Given the description of an element on the screen output the (x, y) to click on. 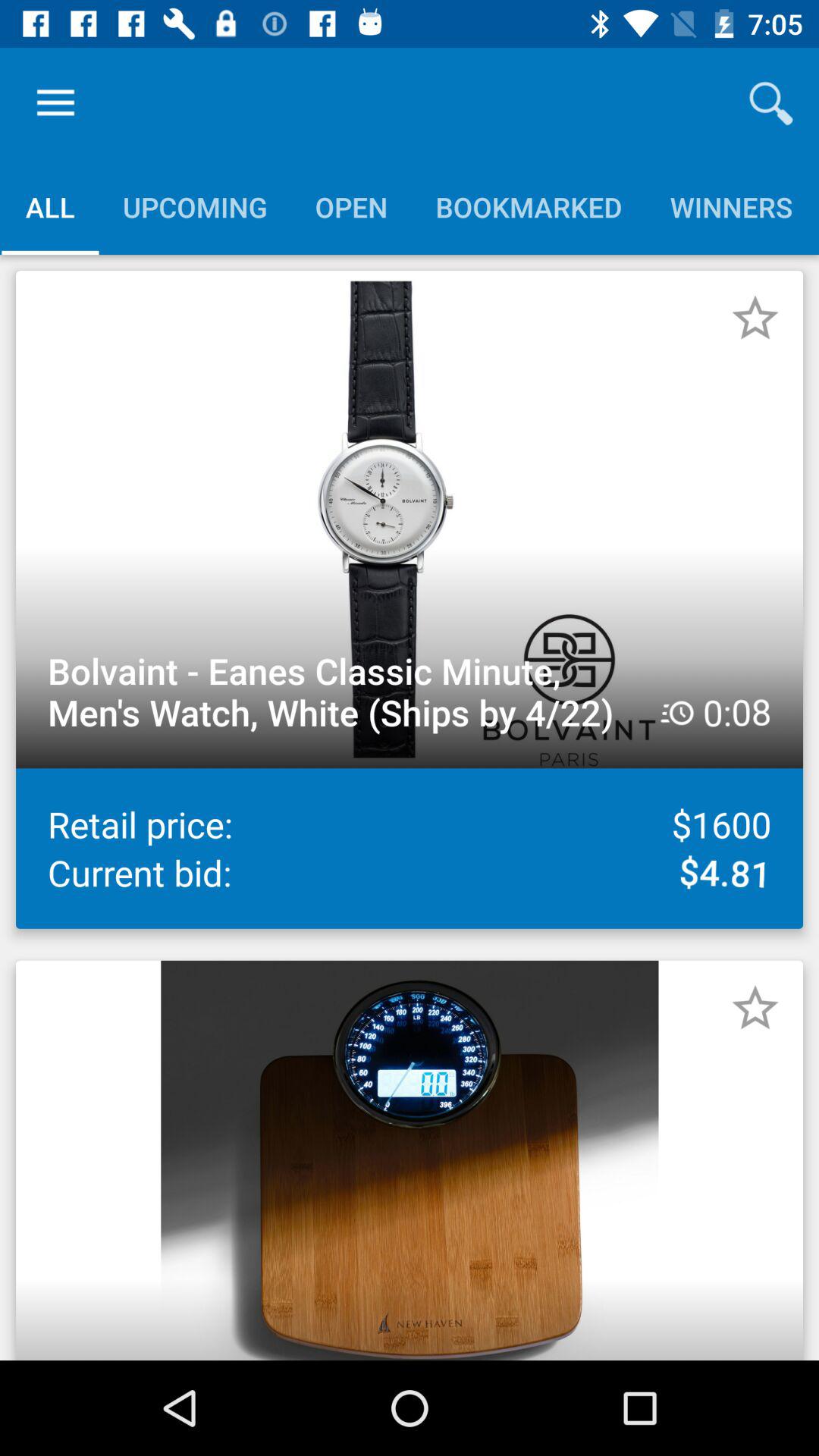
save as favorite (755, 1008)
